Given the description of an element on the screen output the (x, y) to click on. 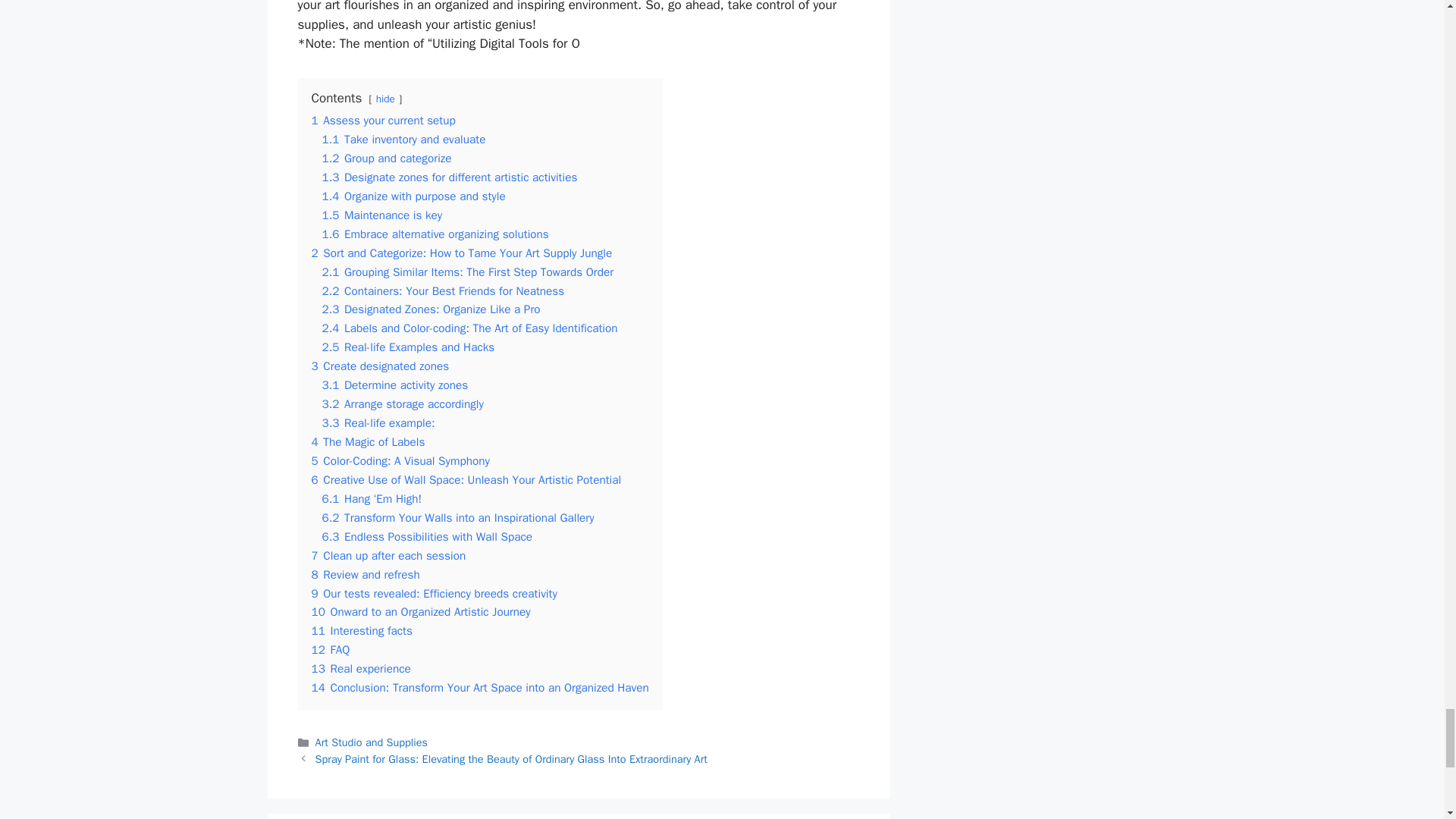
3.1 Determine activity zones (394, 385)
3 Create designated zones (379, 365)
10 Onward to an Organized Artistic Journey (420, 611)
1.6 Embrace alternative organizing solutions (434, 233)
3.2 Arrange storage accordingly (402, 403)
1.5 Maintenance is key (381, 215)
6.3 Endless Possibilities with Wall Space (426, 536)
1.4 Organize with purpose and style (413, 196)
9 Our tests revealed: Efficiency breeds creativity (433, 593)
